Given the description of an element on the screen output the (x, y) to click on. 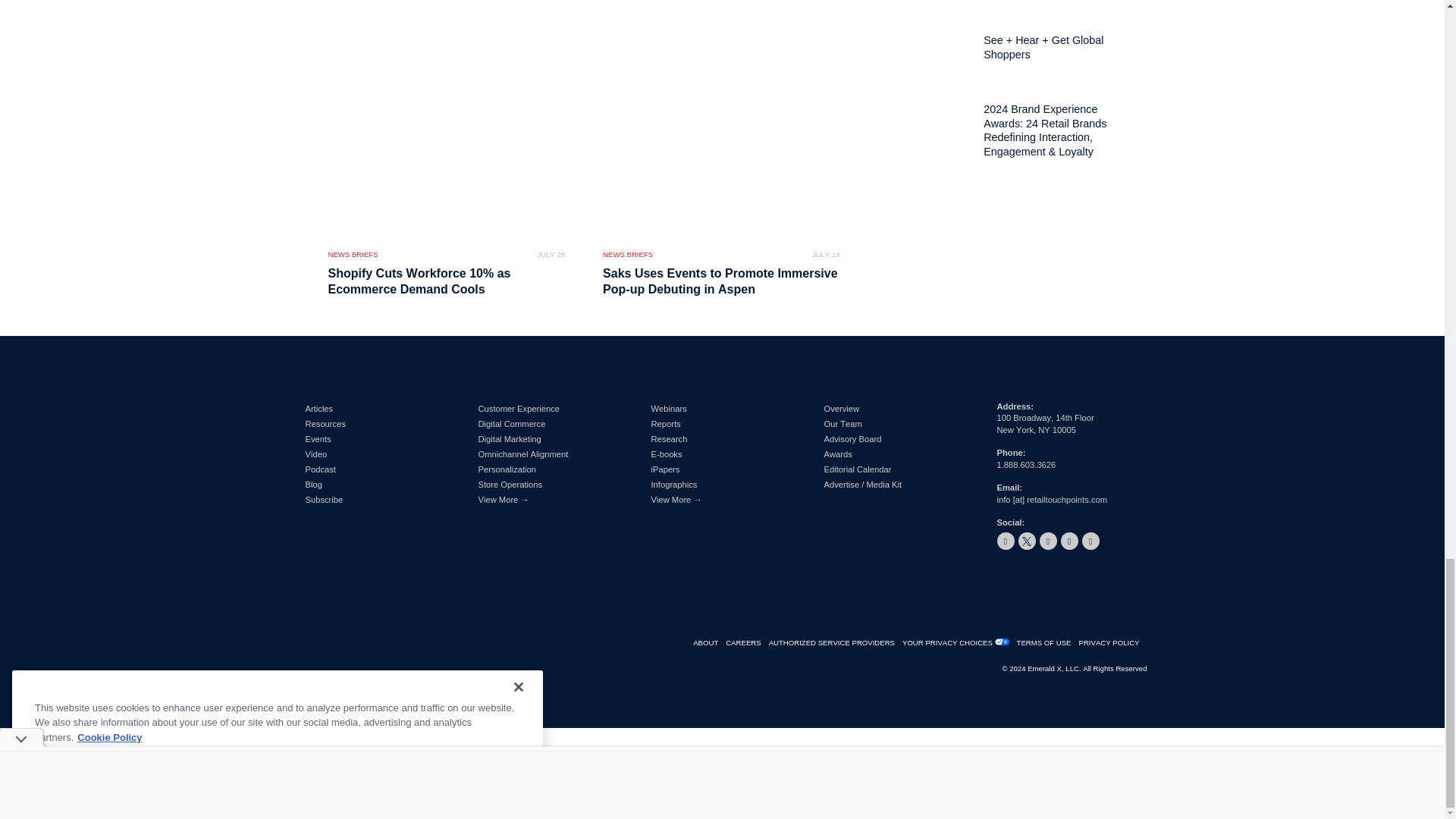
privacy-policy (1112, 642)
terms-of-use (1047, 642)
your-privacy-choices (951, 642)
authorized-service-providers (835, 642)
about (709, 642)
careers (746, 642)
